Given the description of an element on the screen output the (x, y) to click on. 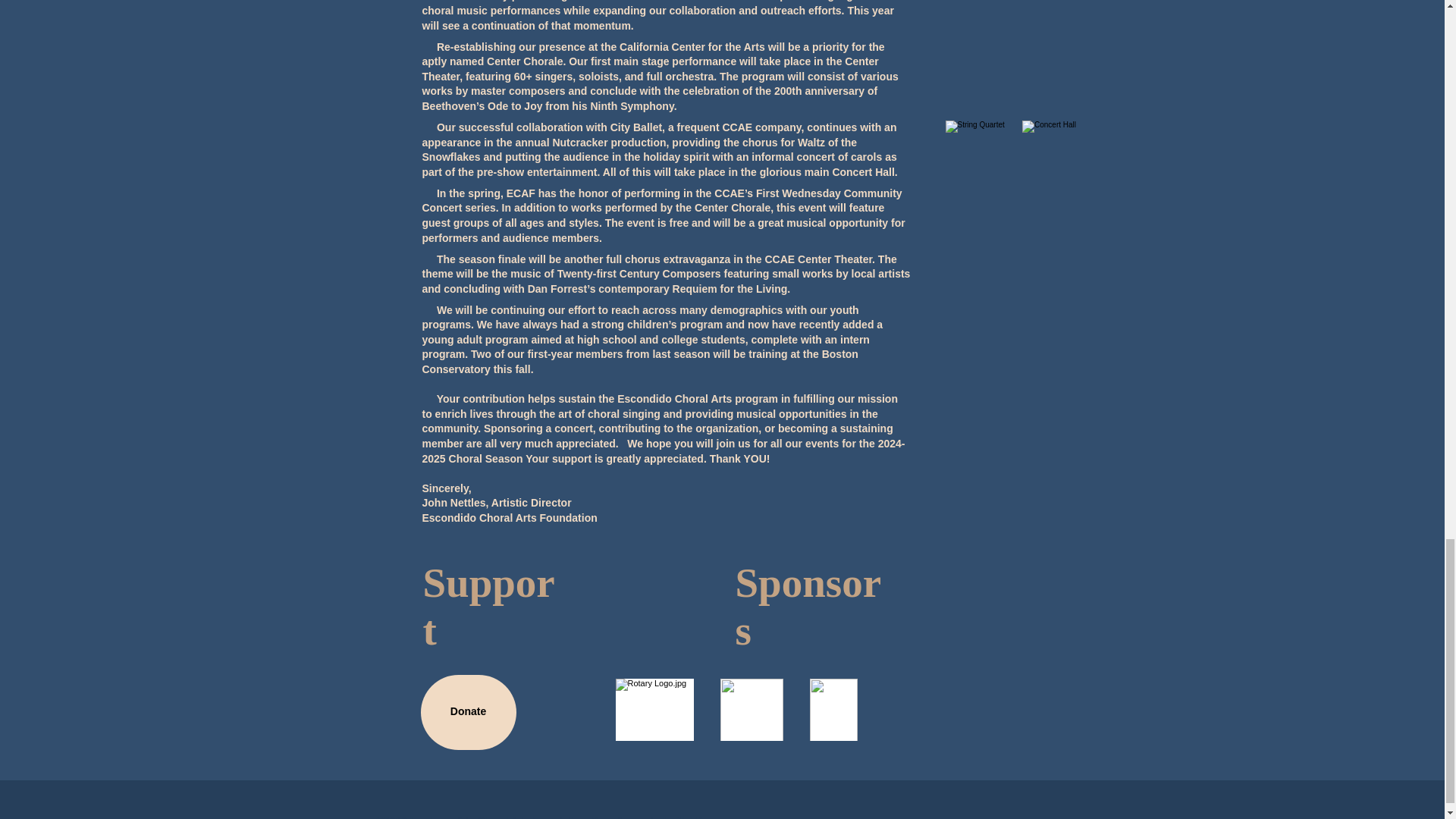
Donate (467, 712)
